Given the description of an element on the screen output the (x, y) to click on. 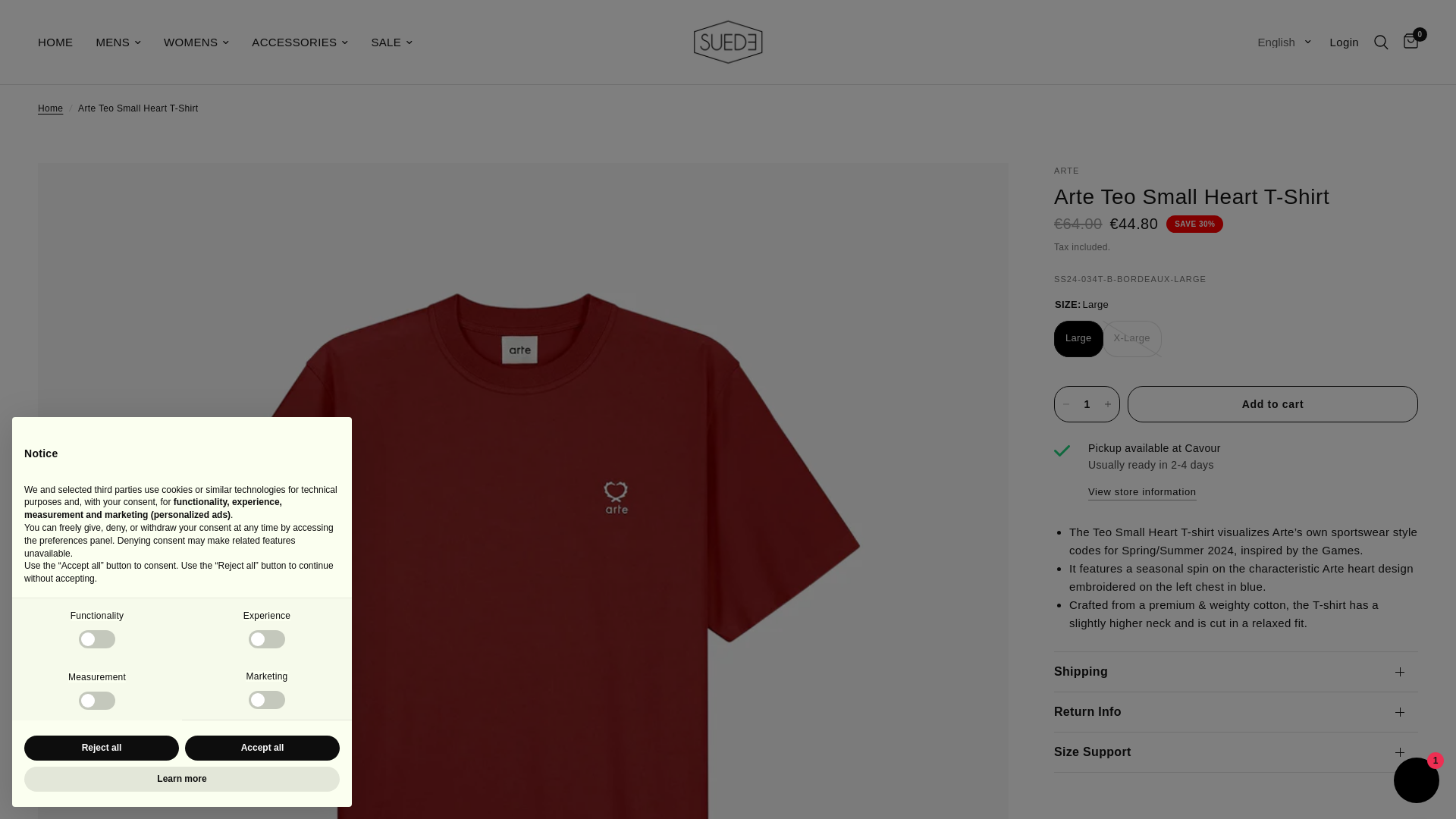
false (96, 700)
false (266, 638)
1 (1086, 403)
false (96, 638)
false (266, 700)
